Given the description of an element on the screen output the (x, y) to click on. 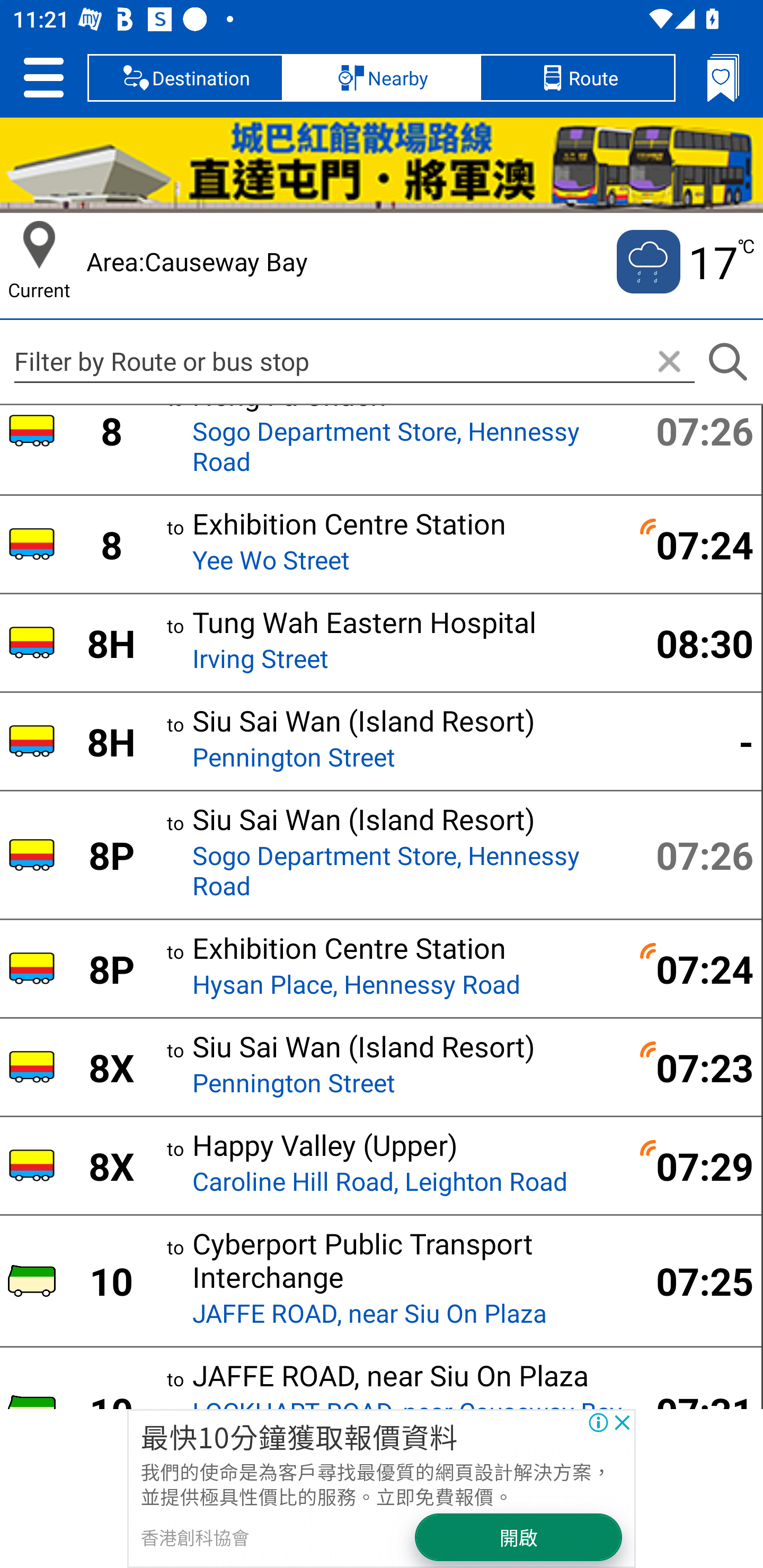
Destination (185, 77)
Nearby, selected (381, 77)
Route (577, 77)
Bookmarks (723, 77)
Setting (43, 77)
HKC (381, 165)
Current Location (38, 244)
Current temputure is  17  no 17 ℃ (684, 261)
Filter by Route or bus stop (354, 361)
Search (727, 362)
Clear (669, 361)
07:26 (693, 430)
07:24 (693, 544)
08:30 (693, 642)
- (693, 740)
07:26 (693, 854)
07:24 (693, 968)
07:23 (693, 1066)
07:29 (693, 1165)
07:25 (693, 1280)
最快10分鐘獲取報價資料 (299, 1435)
開啟 (519, 1537)
香港創科協會 (194, 1537)
